Given the description of an element on the screen output the (x, y) to click on. 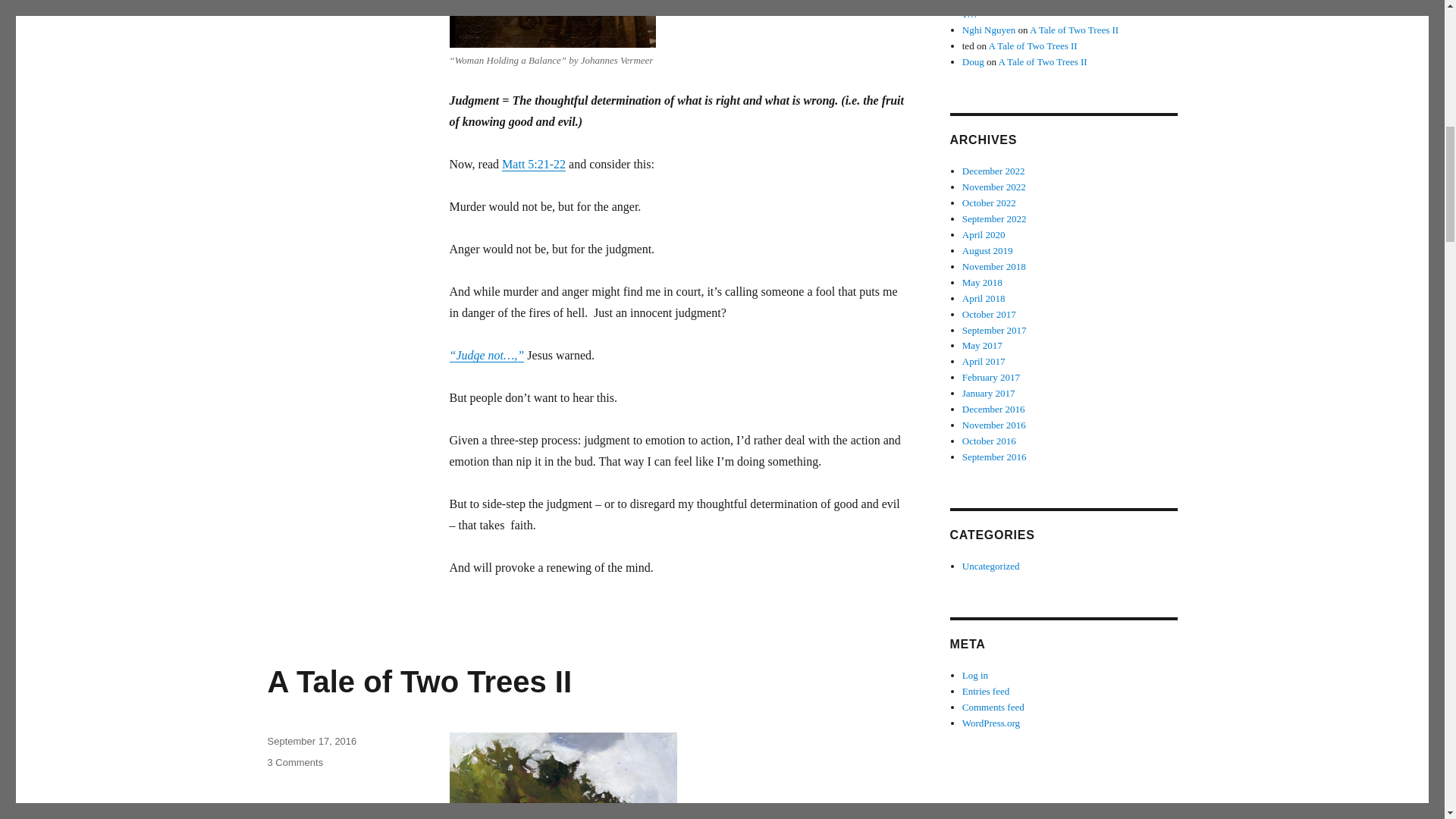
Doug (973, 61)
Matt 5:21-22 (534, 164)
A Tale of Two Trees II (1073, 30)
December 2022 (993, 170)
A Tale of Two Trees II (294, 762)
September 17, 2016 (419, 681)
A Tale of Two Trees II (311, 740)
Nghi Nguyen (1032, 45)
A Tale of Two Trees II (988, 30)
